Given the description of an element on the screen output the (x, y) to click on. 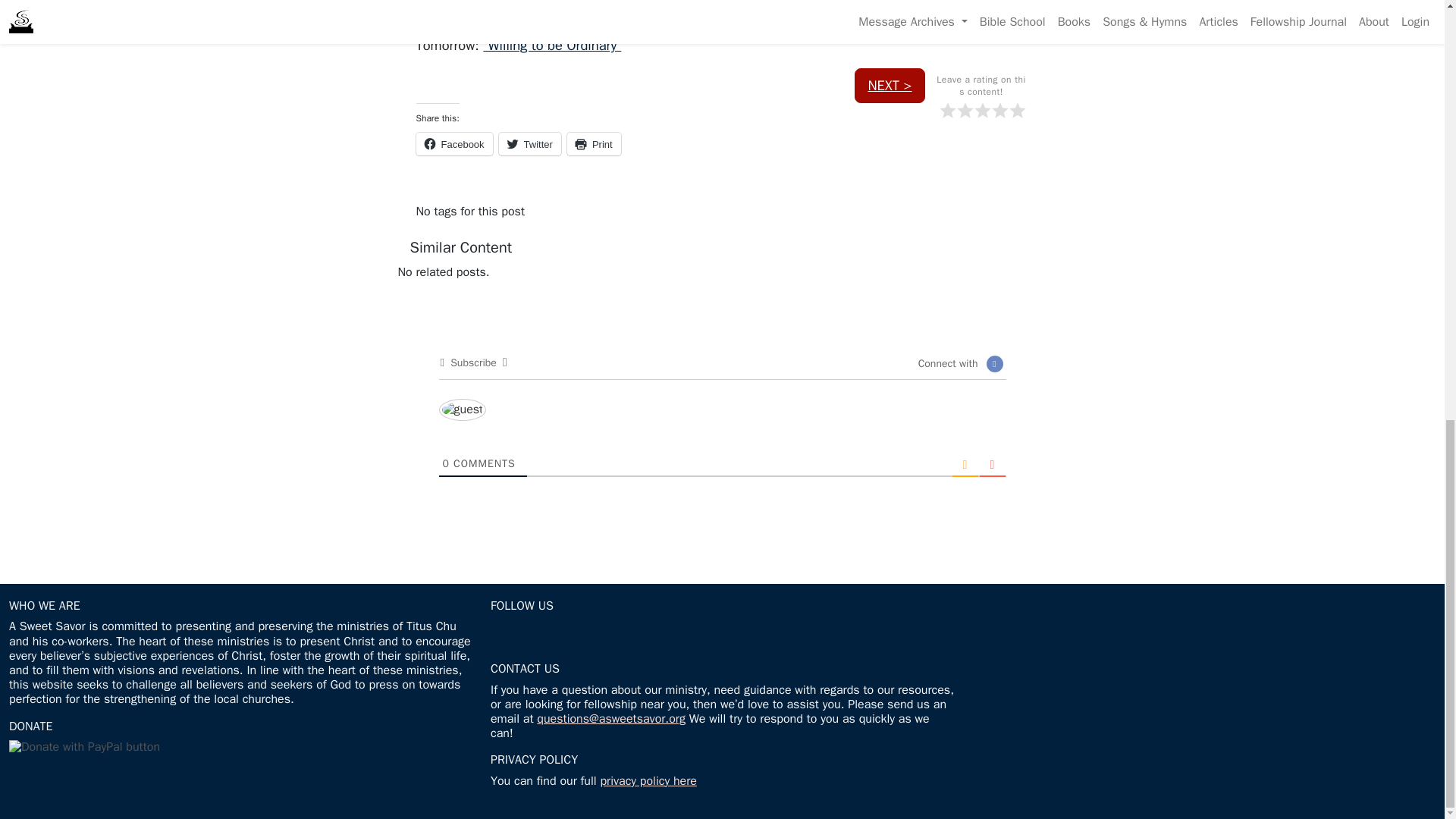
Click to print (594, 143)
Click to share on Twitter (529, 143)
The Journey of Life, (561, 12)
Click to share on Facebook (453, 143)
Go to the listing for this book. (561, 12)
Twitter (529, 143)
Go to the entry for this "Daily Word." (552, 45)
Print (594, 143)
Facebook (453, 143)
